Given the description of an element on the screen output the (x, y) to click on. 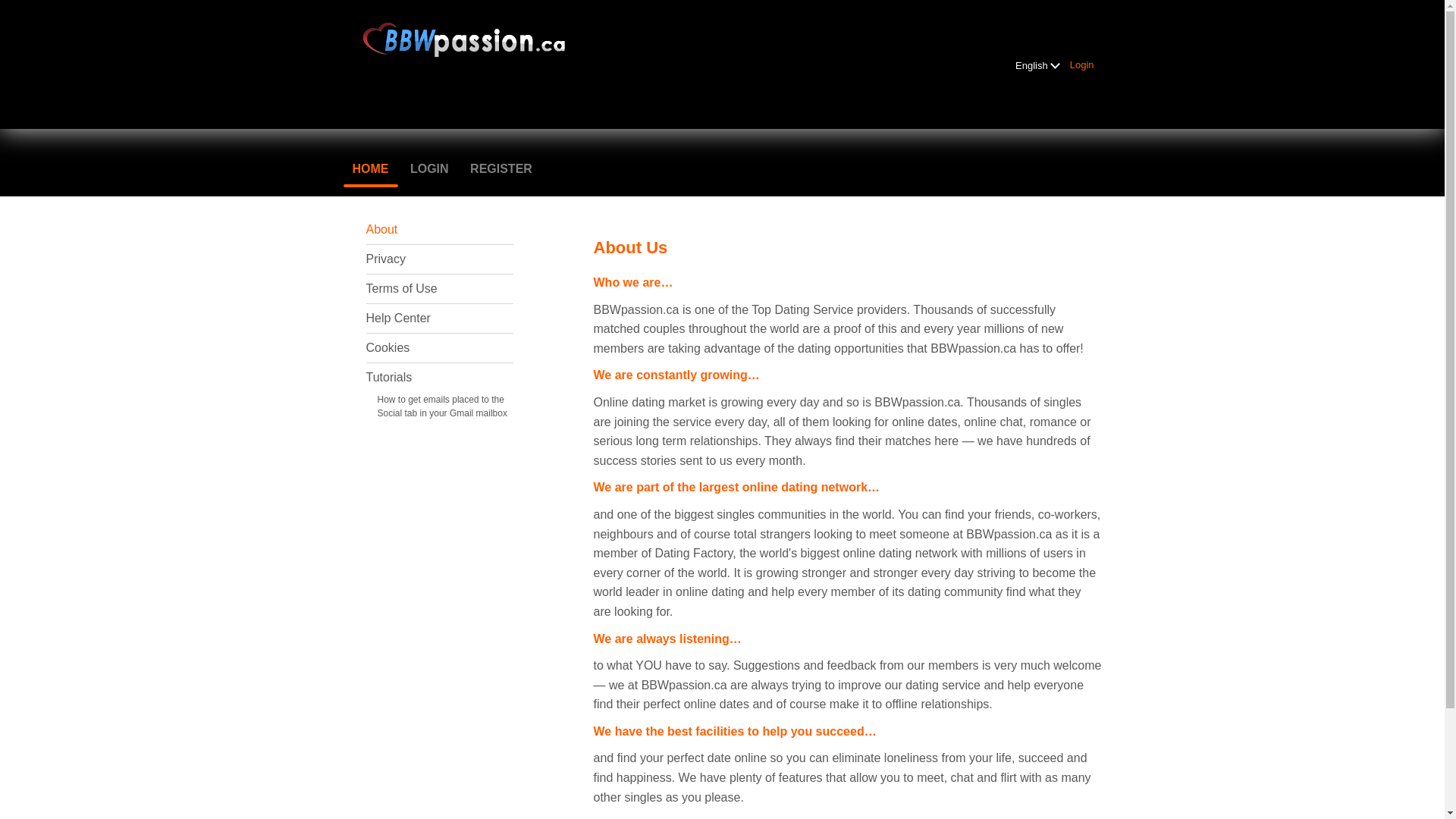
About Element type: text (381, 228)
Terms of Use Element type: text (400, 288)
Help Center Element type: text (397, 317)
  Element type: text (1054, 62)
Privacy Element type: text (384, 258)
HOME Element type: text (369, 169)
REGISTER Element type: text (501, 169)
Login Element type: text (1082, 64)
LOGIN Element type: text (429, 169)
Cookies Element type: text (387, 347)
